Given the description of an element on the screen output the (x, y) to click on. 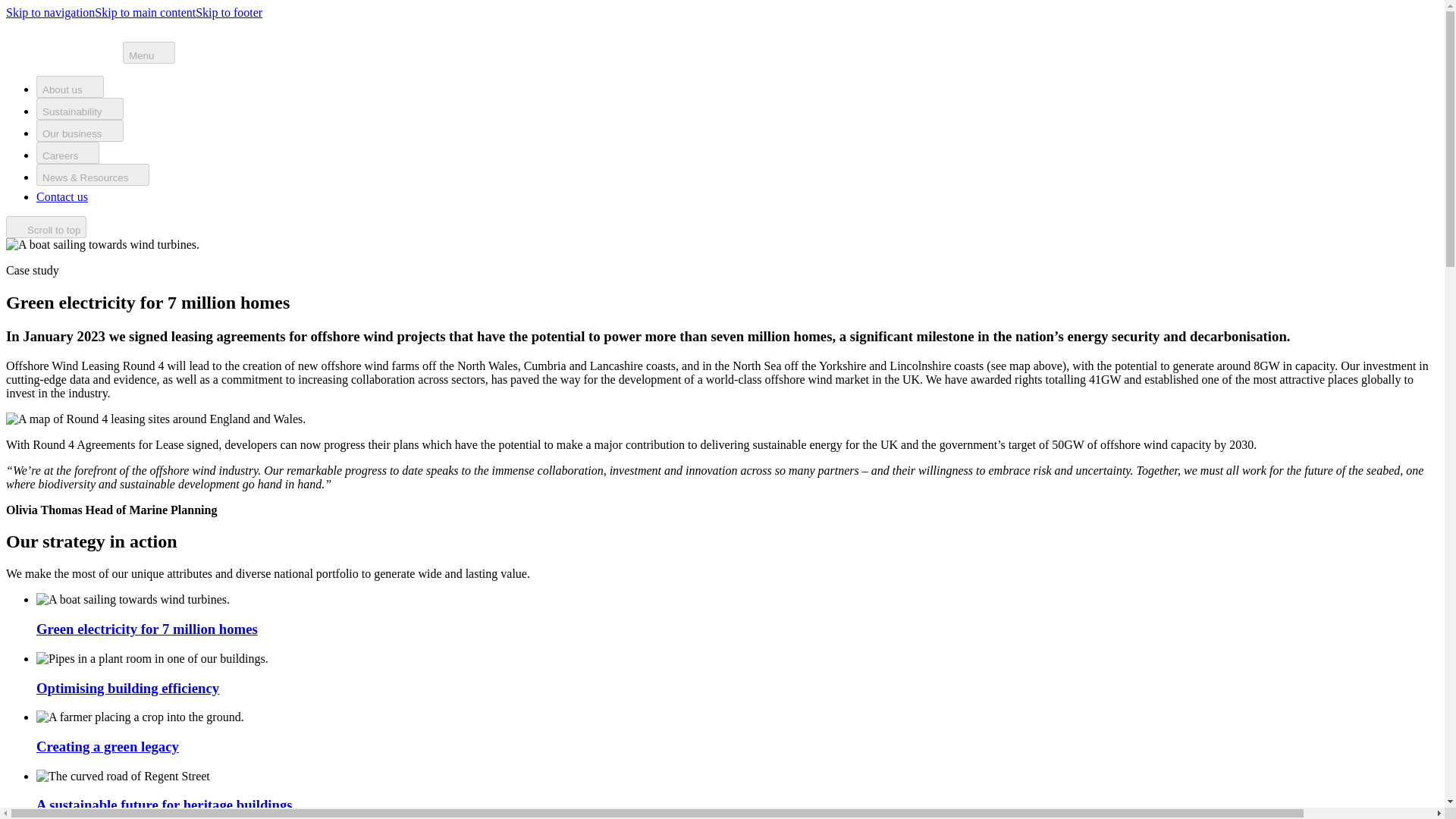
Creating a green legacy (107, 746)
Skip to main content (144, 11)
Skip to navigation (49, 11)
Skip to footer (228, 11)
About us (69, 86)
Optimising building efficiency (127, 687)
Our business (79, 130)
Green electricity for 7 million homes (146, 628)
Menu (148, 52)
Contact us (69, 196)
Careers (67, 152)
Sustainability (79, 108)
Scroll to top (45, 227)
A sustainable future for heritage buildings (164, 804)
